Given the description of an element on the screen output the (x, y) to click on. 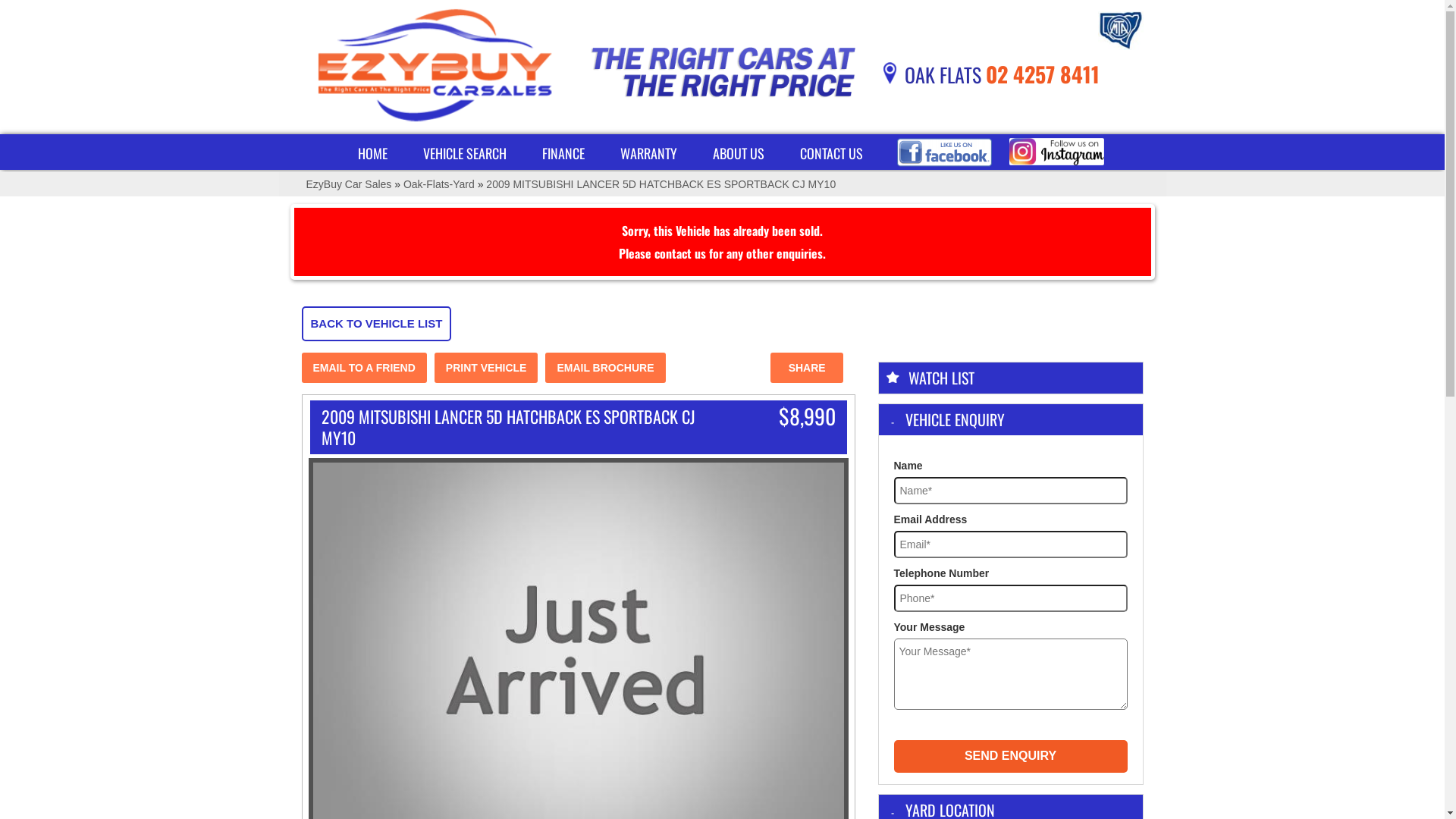
ABOUT US Element type: text (738, 151)
INSTAGRAM Element type: text (1055, 151)
PRINT VEHICLE Element type: text (486, 367)
WATCH LIST Element type: text (941, 377)
WARRANTY Element type: text (648, 151)
FACEBOOK Element type: text (943, 151)
Oak-Flats-Yard Element type: text (438, 184)
HOME Element type: text (372, 151)
FINANCE Element type: text (562, 151)
WATCH LIST Element type: text (1010, 377)
VEHICLE SEARCH Element type: text (464, 151)
SEND ENQUIRY Element type: text (1009, 756)
EMAIL BROCHURE Element type: text (605, 367)
EzyBuy Car Sales Element type: text (349, 184)
BACK TO VEHICLE LIST Element type: text (376, 323)
Ezy Buy Car Sales Element type: hover (434, 67)
02 4257 8411 Element type: text (1042, 73)
CONTACT US Element type: text (830, 151)
2009 MITSUBISHI LANCER 5D HATCHBACK ES SPORTBACK CJ MY10 Element type: text (660, 184)
EMAIL TO A FRIEND Element type: text (363, 367)
